Given the description of an element on the screen output the (x, y) to click on. 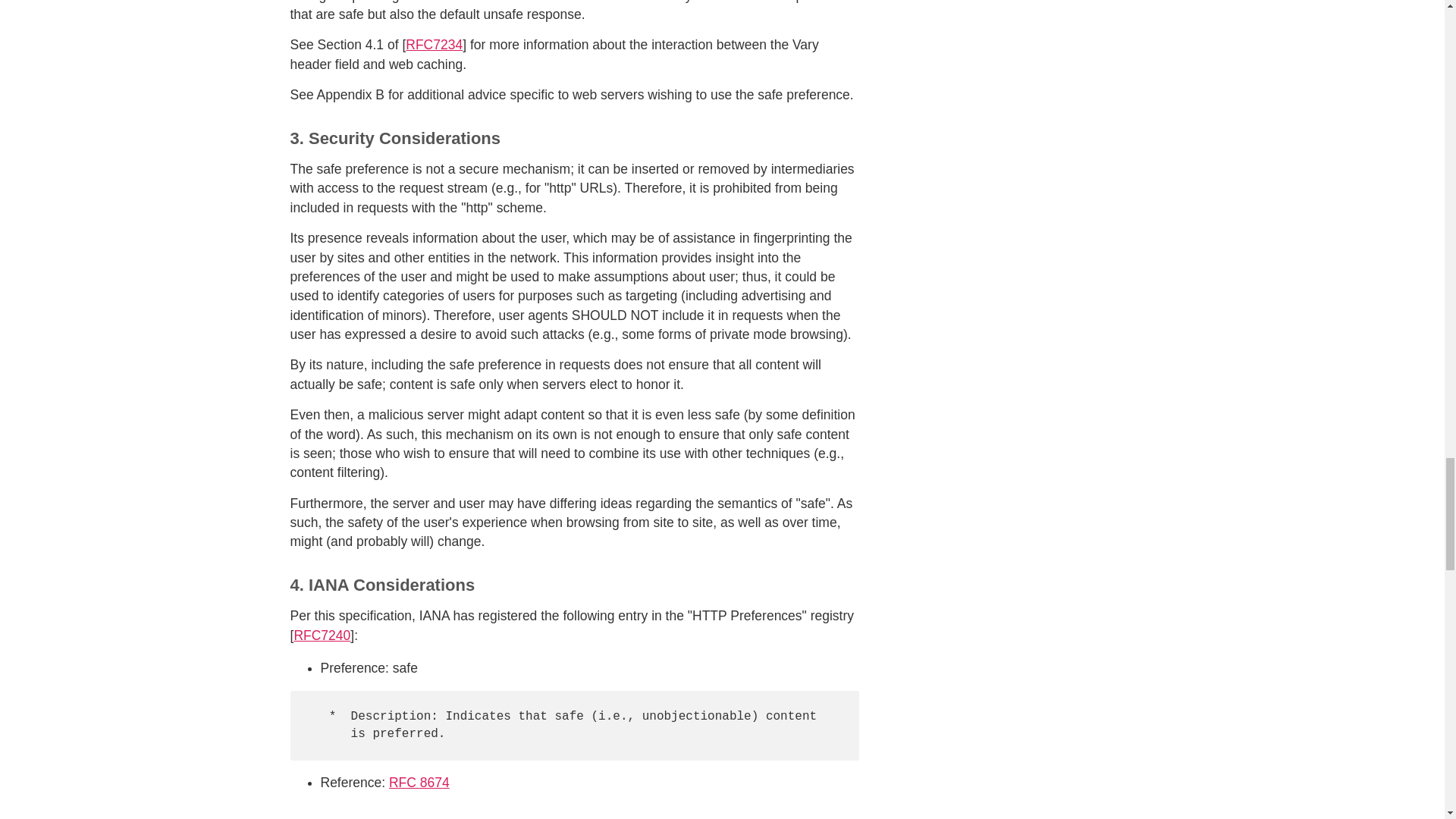
RFC7240 (322, 635)
RFC7234 (434, 44)
RFC 8674 (418, 782)
